Given the description of an element on the screen output the (x, y) to click on. 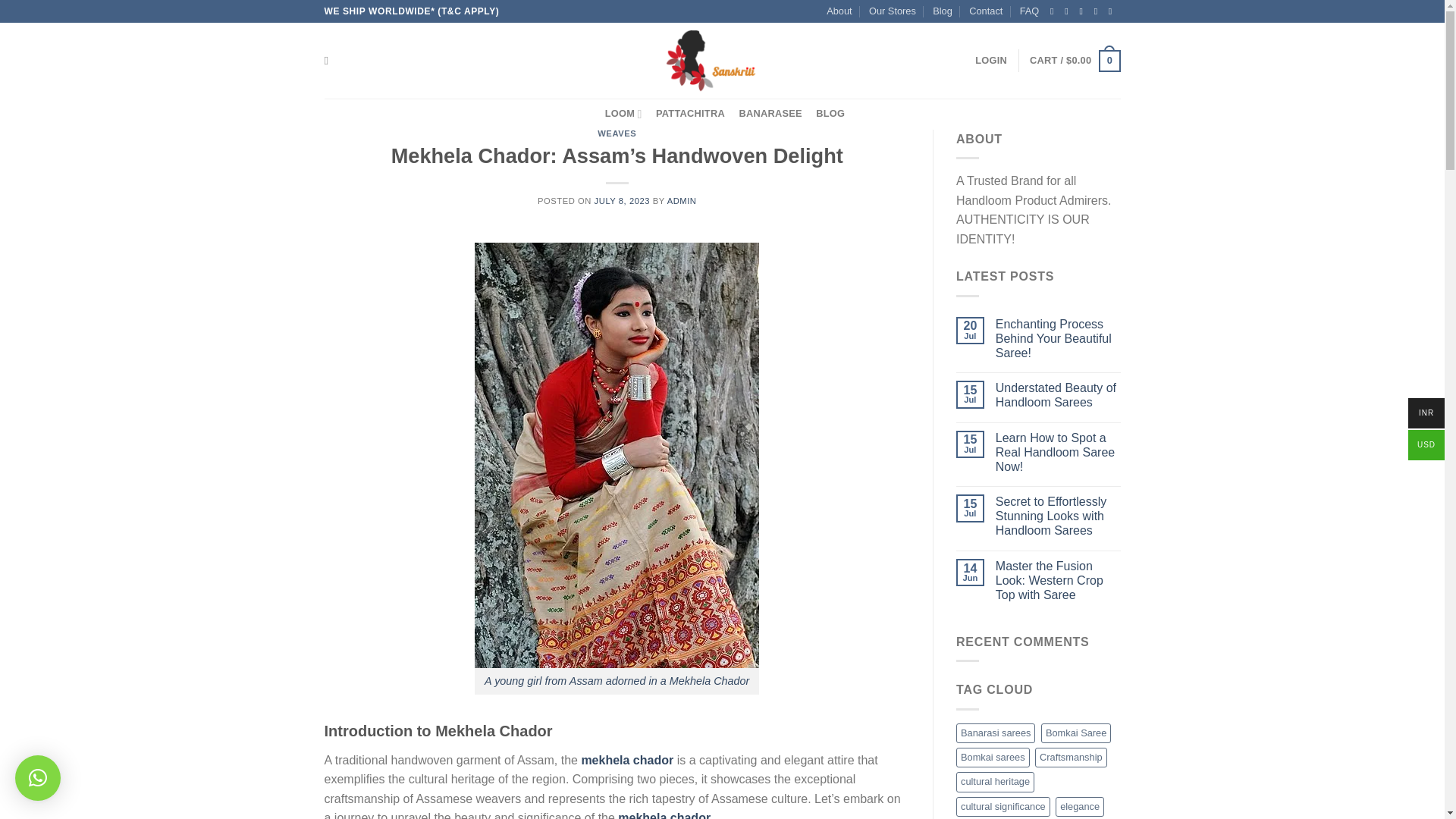
Secret to Effortlessly Stunning Looks with Handloom Sarees (1058, 516)
LOGIN (991, 60)
Understated Beauty of Handloom Sarees (1058, 394)
Our Stores (892, 11)
Master the Fusion Look: Western Crop Top with Saree (1058, 580)
Contact (986, 11)
Learn How to Spot a Real Handloom Saree Now! (1058, 452)
Cart (1074, 61)
Enchanting Process Behind Your Beautiful Saree! (1058, 338)
About (839, 11)
